Given the description of an element on the screen output the (x, y) to click on. 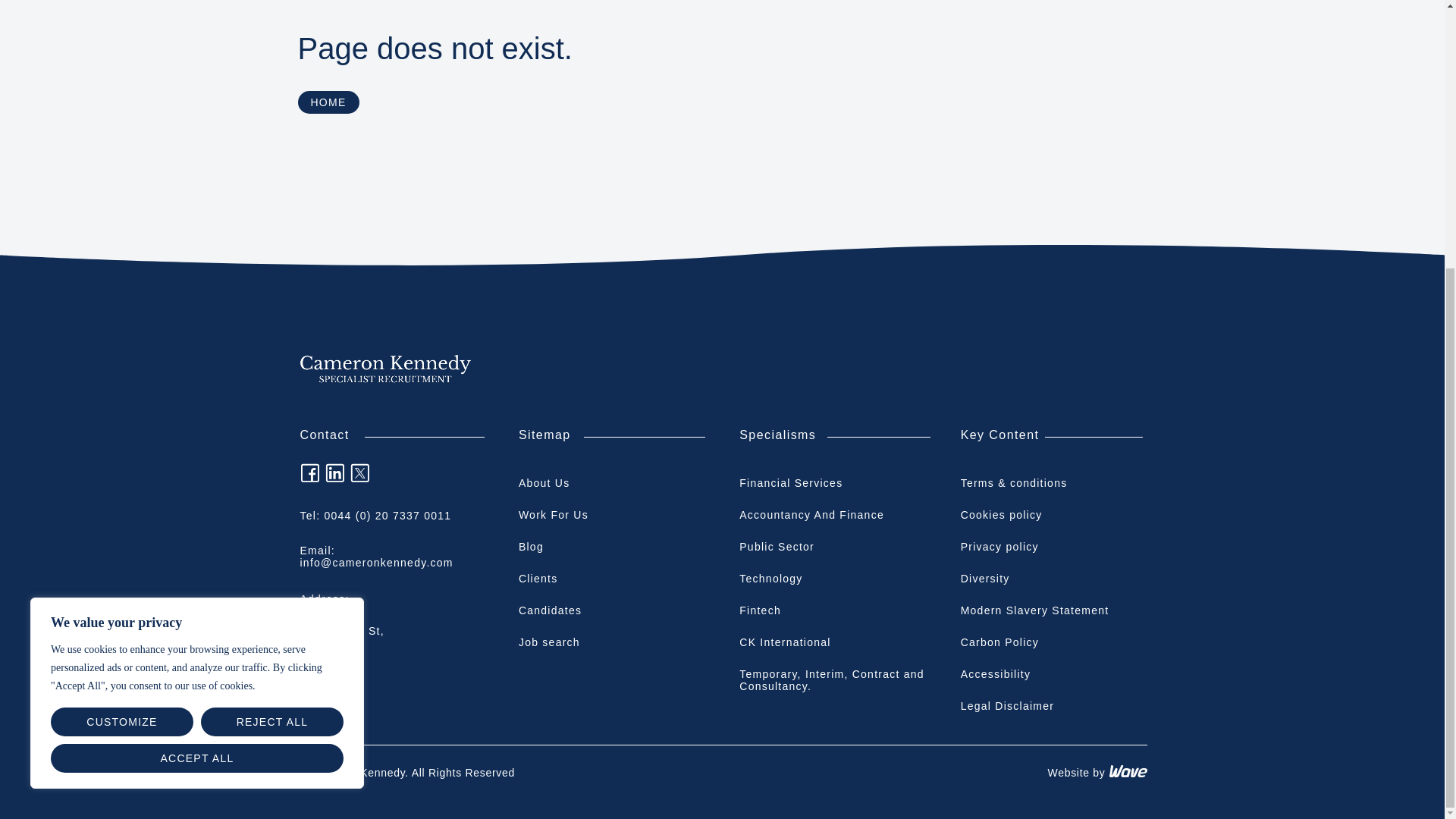
Wavesites (1127, 772)
CUSTOMIZE (121, 330)
REJECT ALL (271, 330)
Website Developed by Wave (1127, 770)
ACCEPT ALL (196, 366)
